Given the description of an element on the screen output the (x, y) to click on. 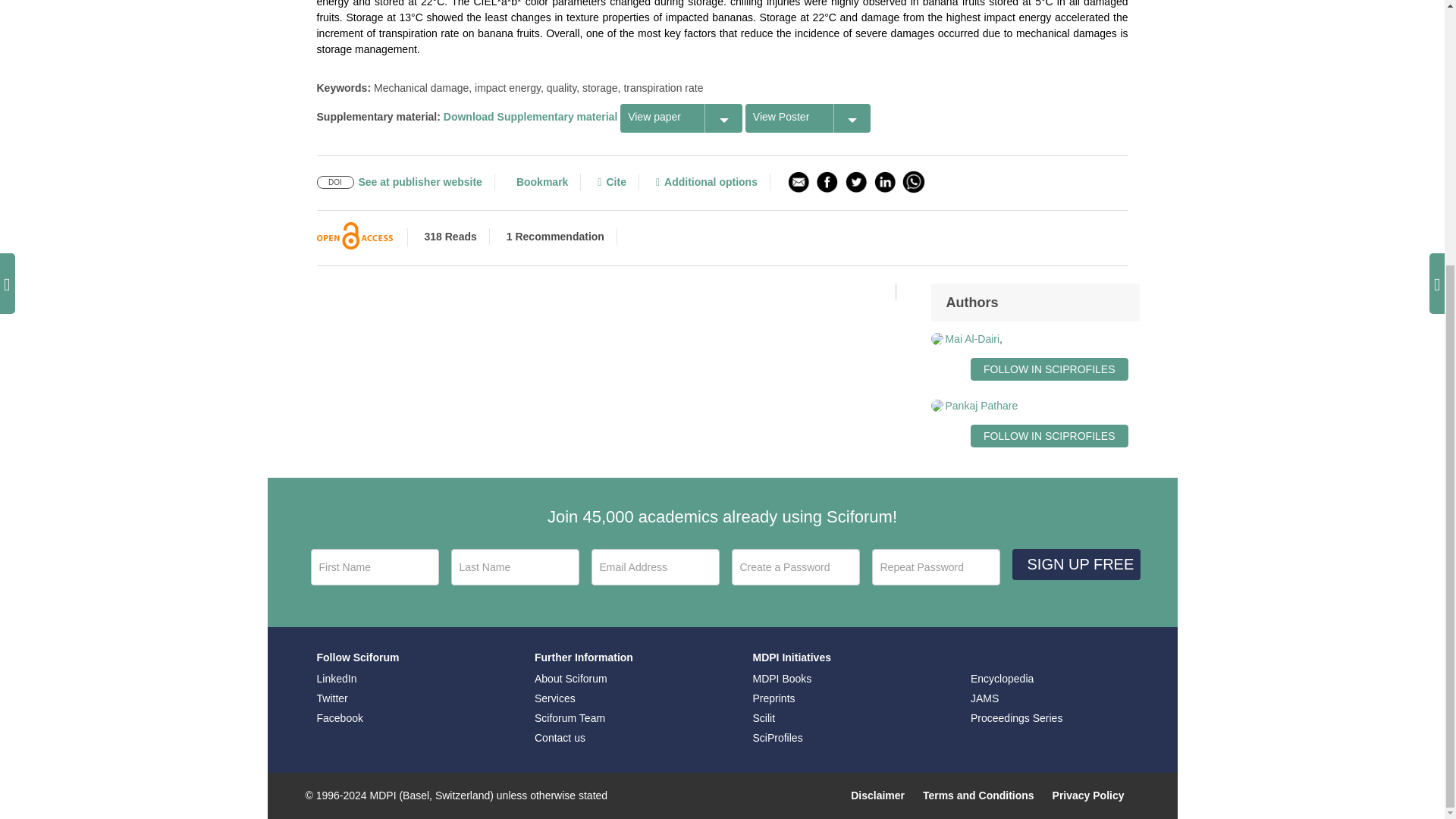
Email (655, 566)
Last name (513, 566)
First name (375, 566)
Sign Up Free (1075, 563)
Confirm password (936, 566)
